Given the description of an element on the screen output the (x, y) to click on. 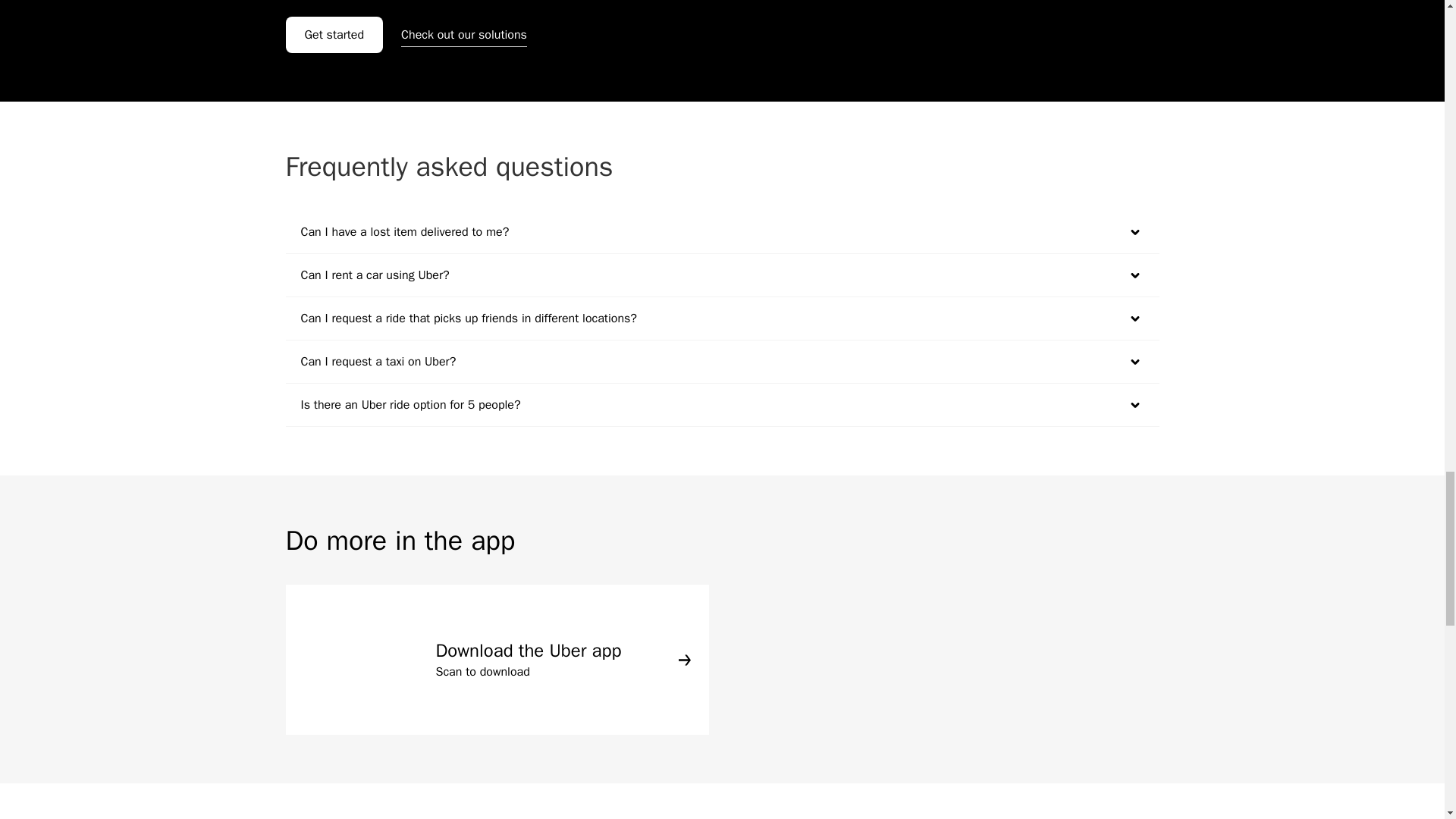
Down Small (1134, 275)
Down Small (1134, 361)
Down Small (1134, 318)
Down Small (1134, 232)
Expand (1133, 318)
Down Small (1134, 404)
Expand (1133, 231)
Expand (1133, 404)
Expand (1133, 275)
Expand (1133, 361)
